Given the description of an element on the screen output the (x, y) to click on. 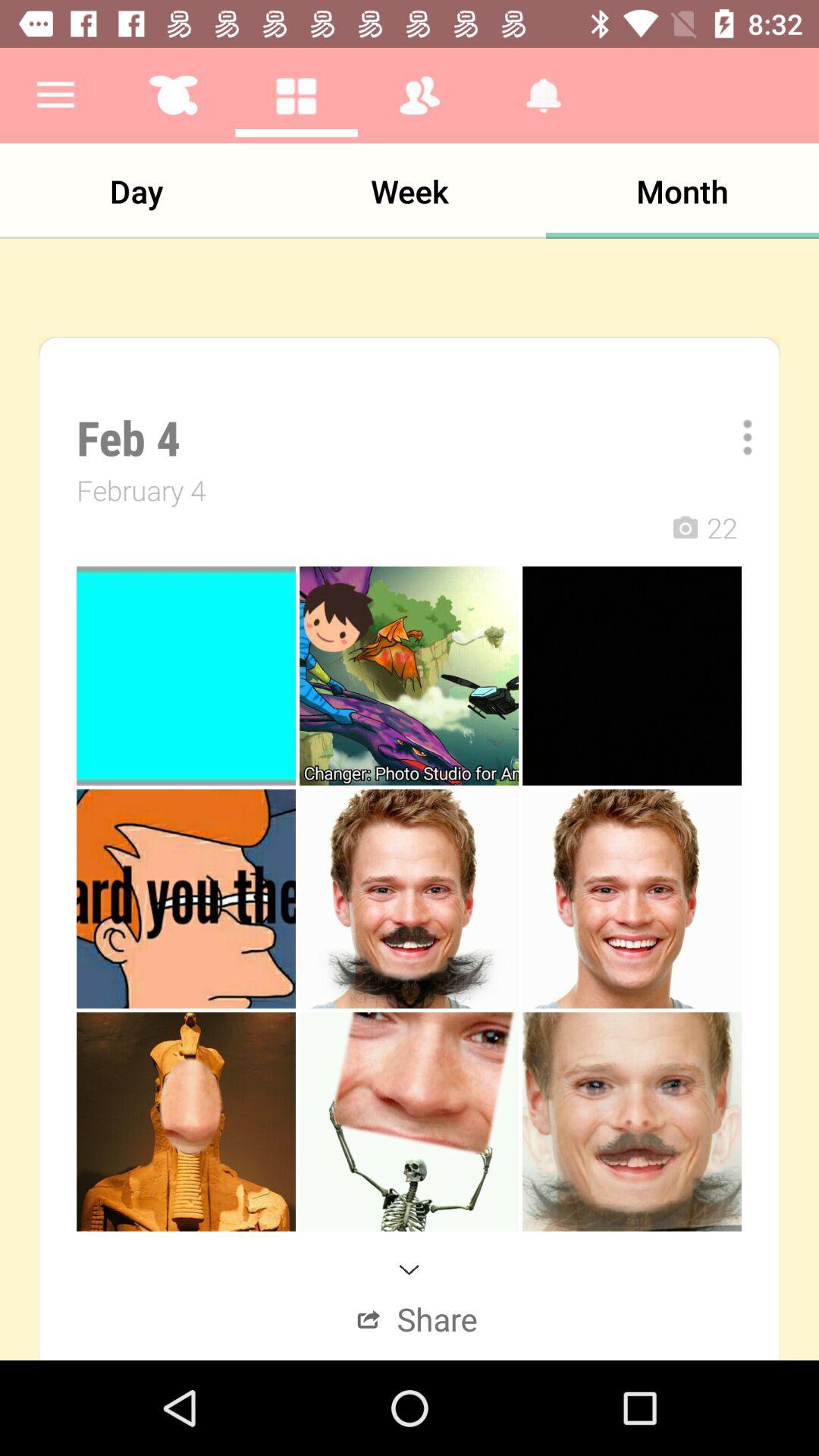
swipe to the month (682, 190)
